Given the description of an element on the screen output the (x, y) to click on. 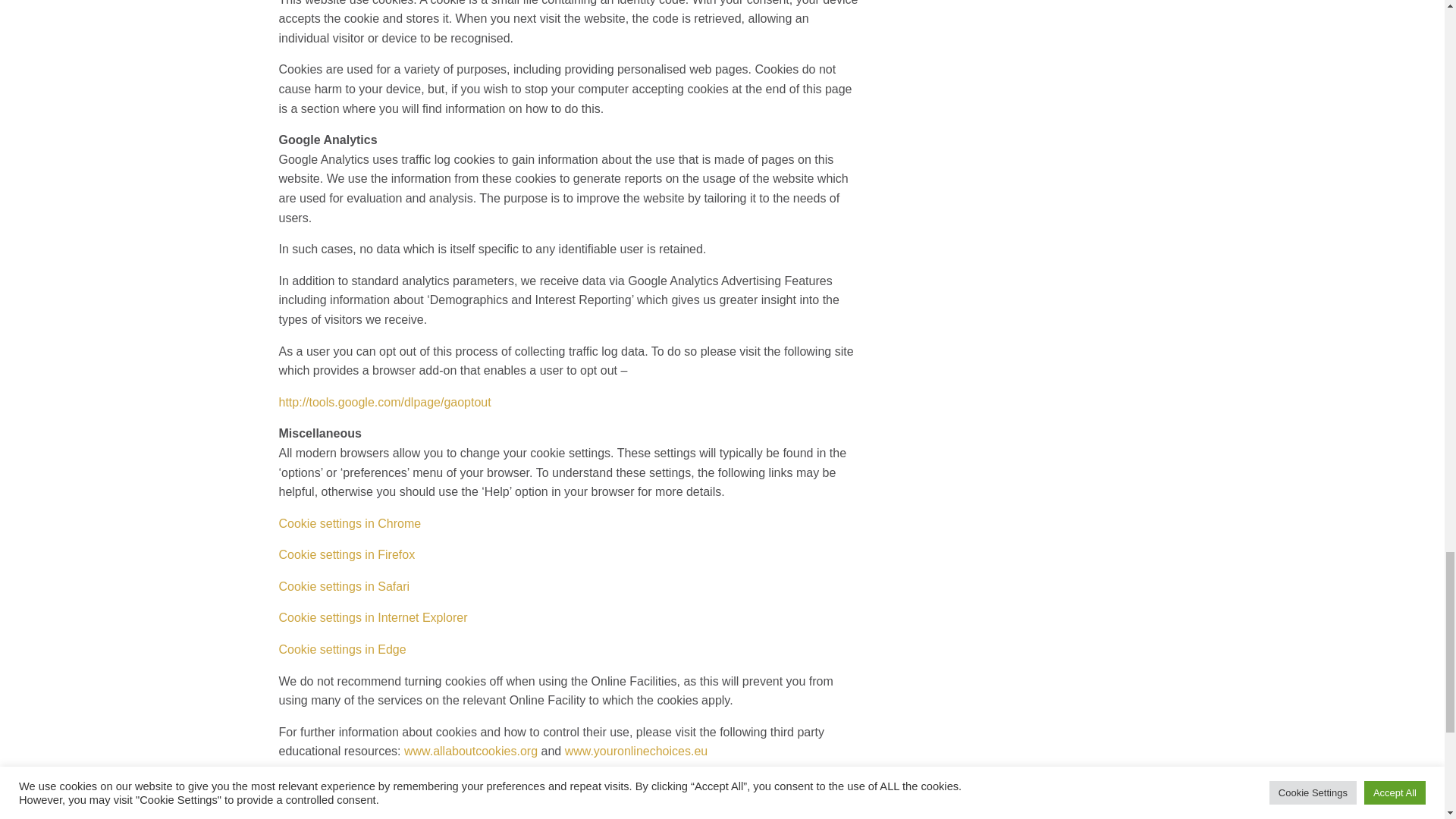
Facebook (372, 794)
LinkedIn (388, 794)
Twitter (358, 794)
